Given the description of an element on the screen output the (x, y) to click on. 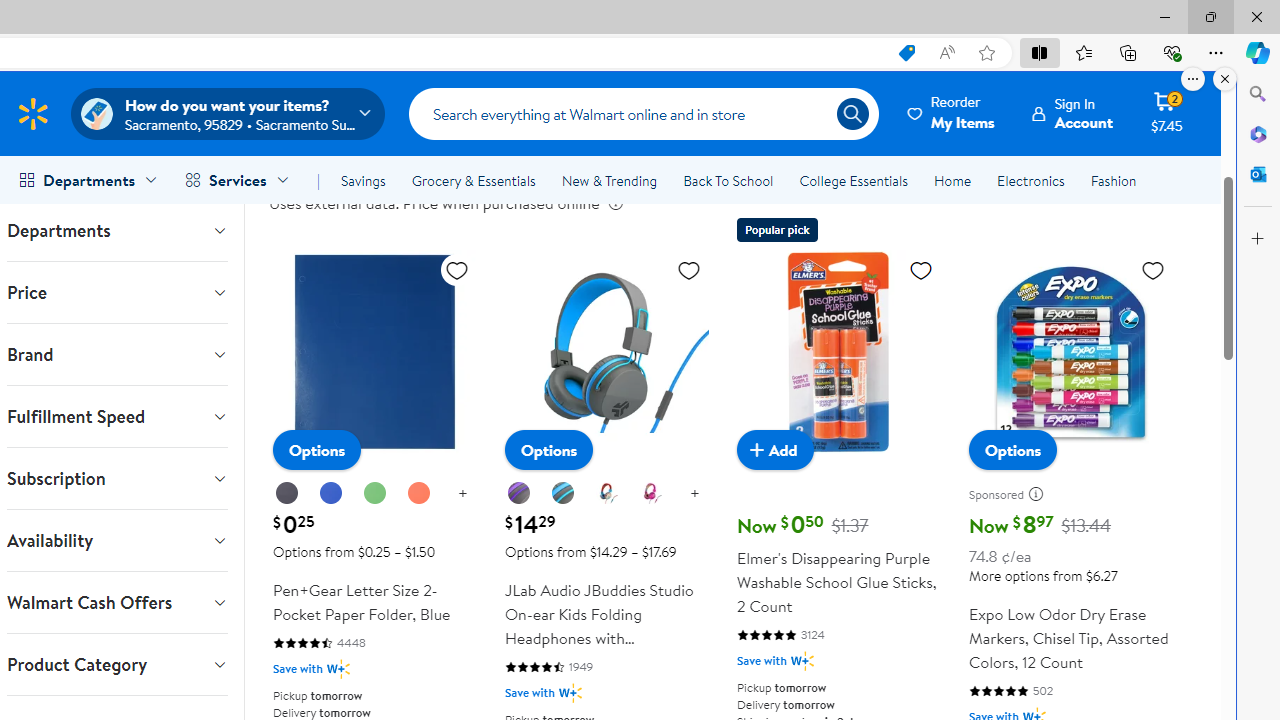
Walmart Homepage (32, 113)
Sign InAccount (1072, 113)
New & Trending (608, 180)
Black (287, 494)
Orange (418, 493)
Options - Pen+Gear Letter Size 2-Pocket Paper Folder, Blue (317, 449)
Green (374, 493)
Blue (331, 494)
Customize (1258, 239)
legal information (615, 203)
Pink (650, 493)
